Given the description of an element on the screen output the (x, y) to click on. 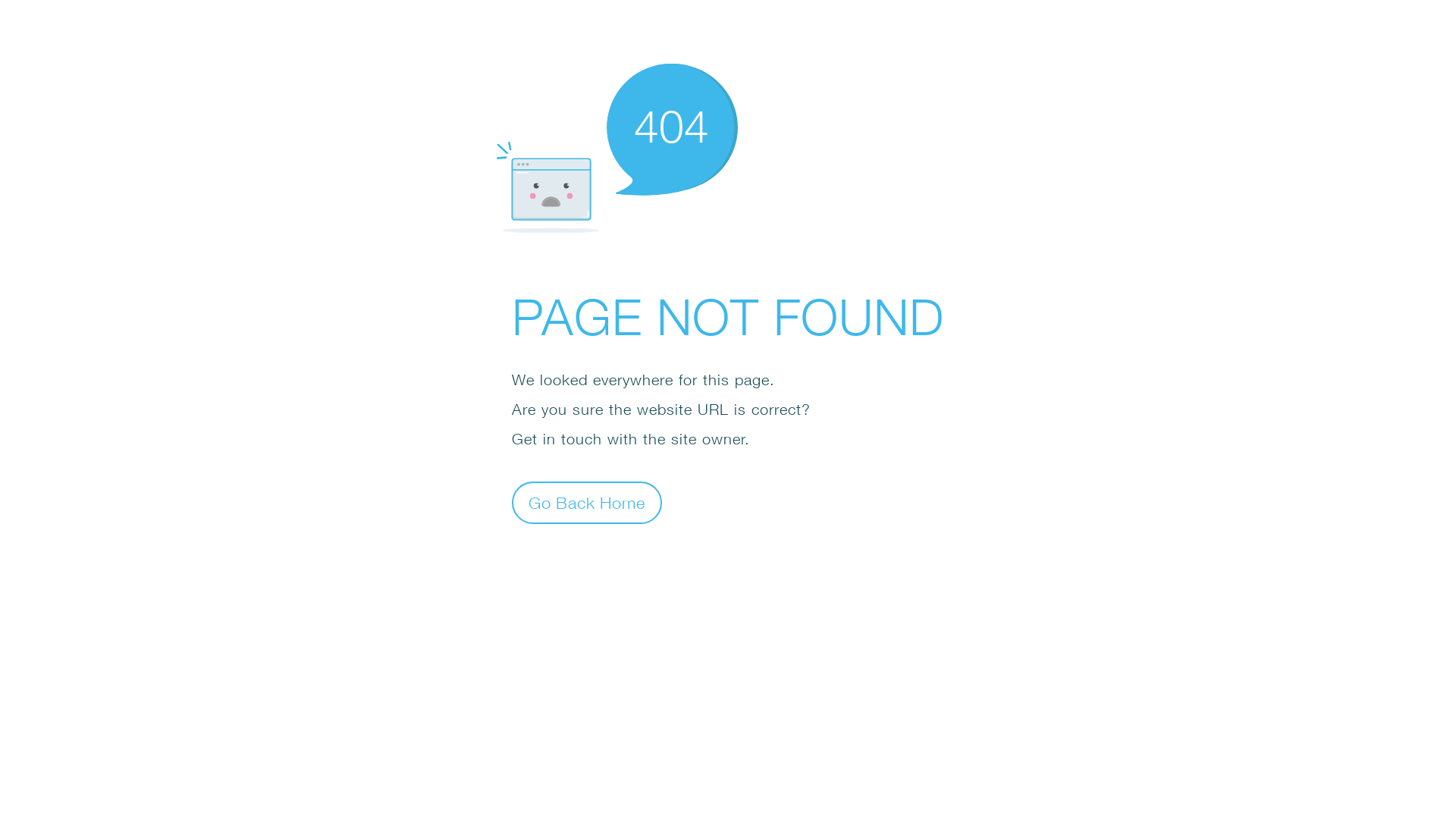
Go Back Home Element type: text (586, 502)
